Given the description of an element on the screen output the (x, y) to click on. 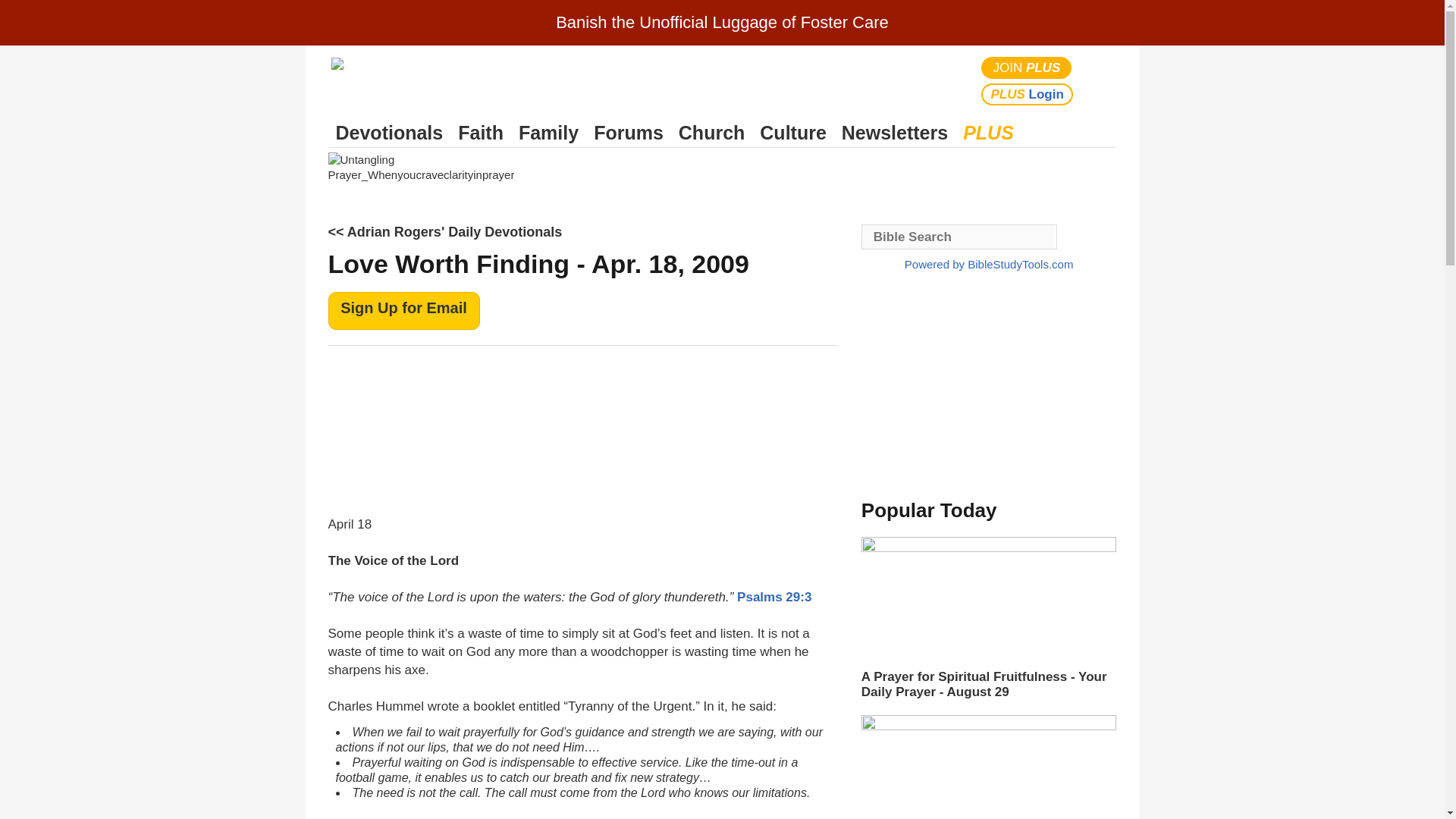
JOIN PLUS (1026, 67)
Join Plus (1026, 67)
Plus Login (1026, 94)
PLUS Login (1026, 94)
Faith (481, 132)
Search (1101, 80)
Devotionals (389, 132)
